Given the description of an element on the screen output the (x, y) to click on. 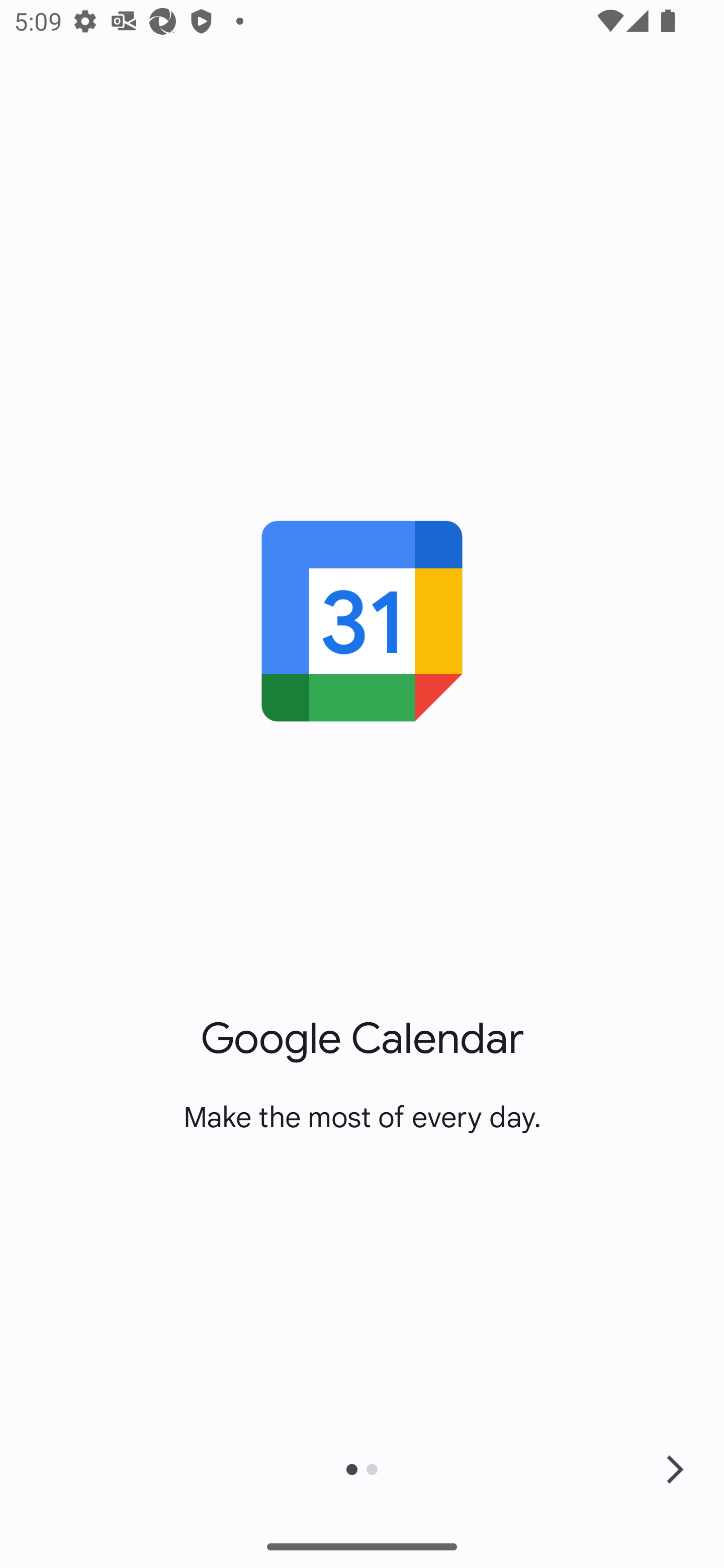
next page (674, 1468)
